Given the description of an element on the screen output the (x, y) to click on. 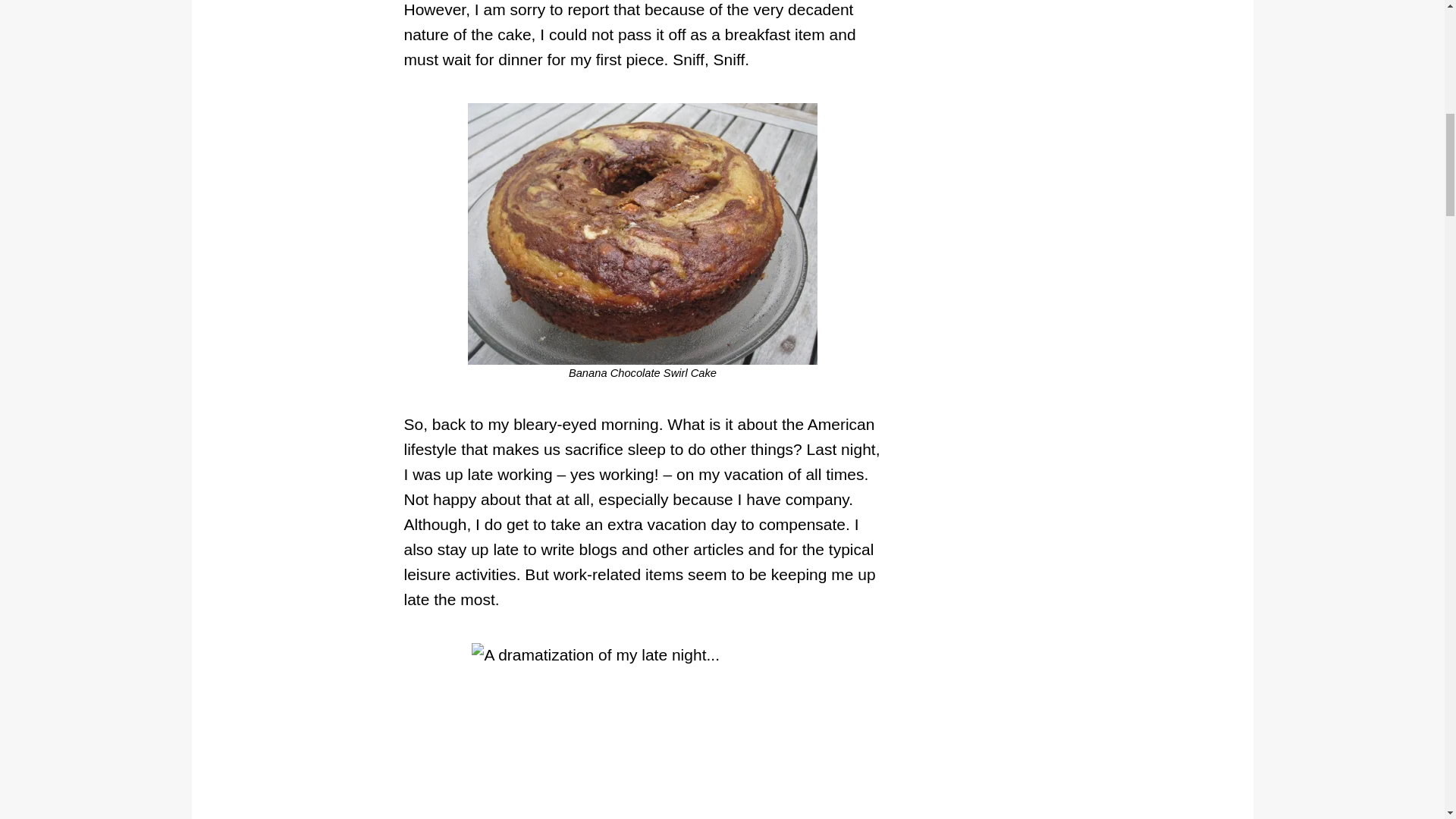
Chocolate Cake (641, 233)
